Given the description of an element on the screen output the (x, y) to click on. 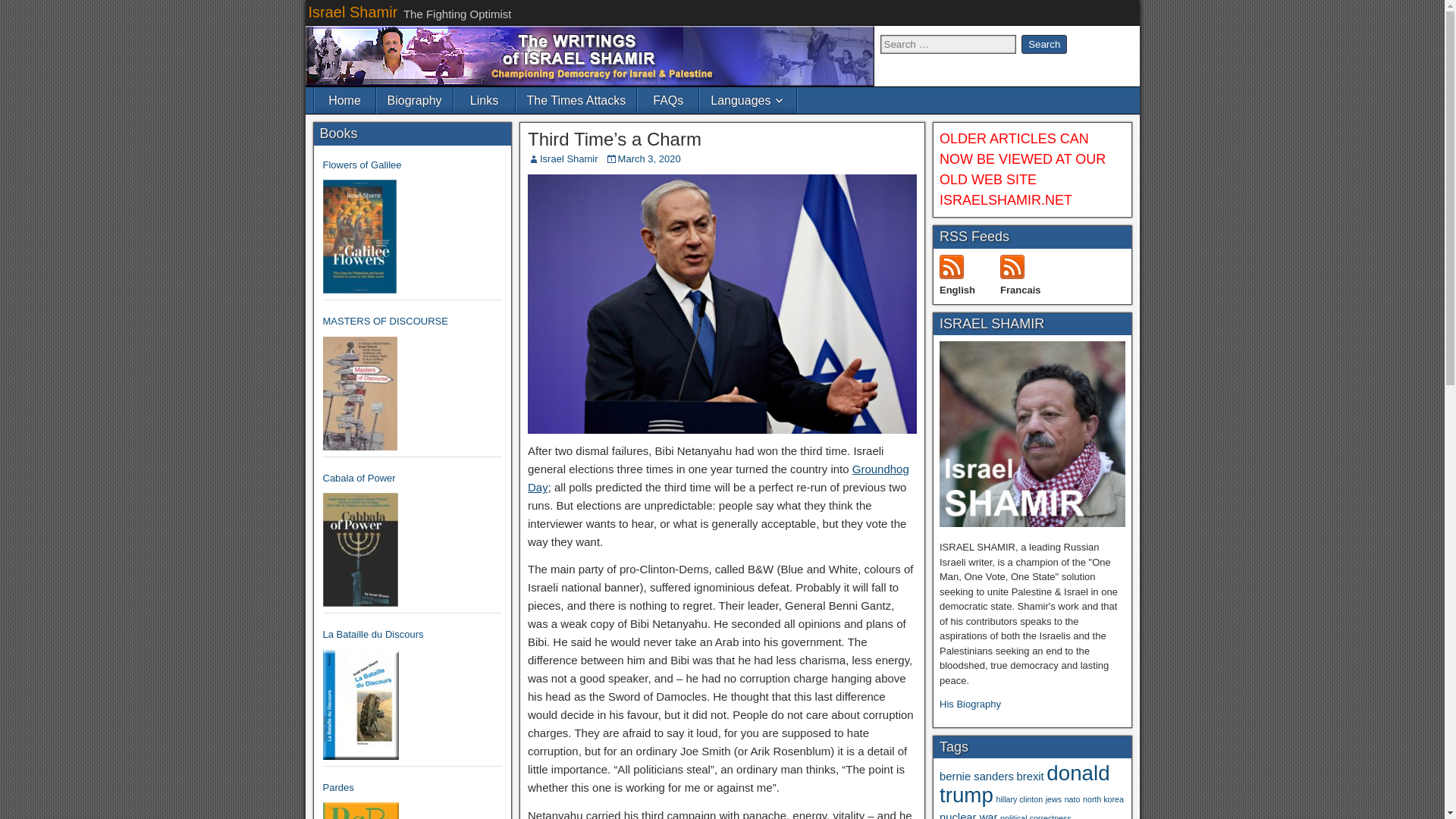
Links (484, 99)
March 3, 2020 (649, 158)
Groundhog Day (717, 477)
FAQs (667, 99)
Biography (413, 99)
Search (1044, 44)
Home (344, 99)
Search (1044, 44)
Languages (748, 99)
Flowers of Galilee (412, 165)
